Given the description of an element on the screen output the (x, y) to click on. 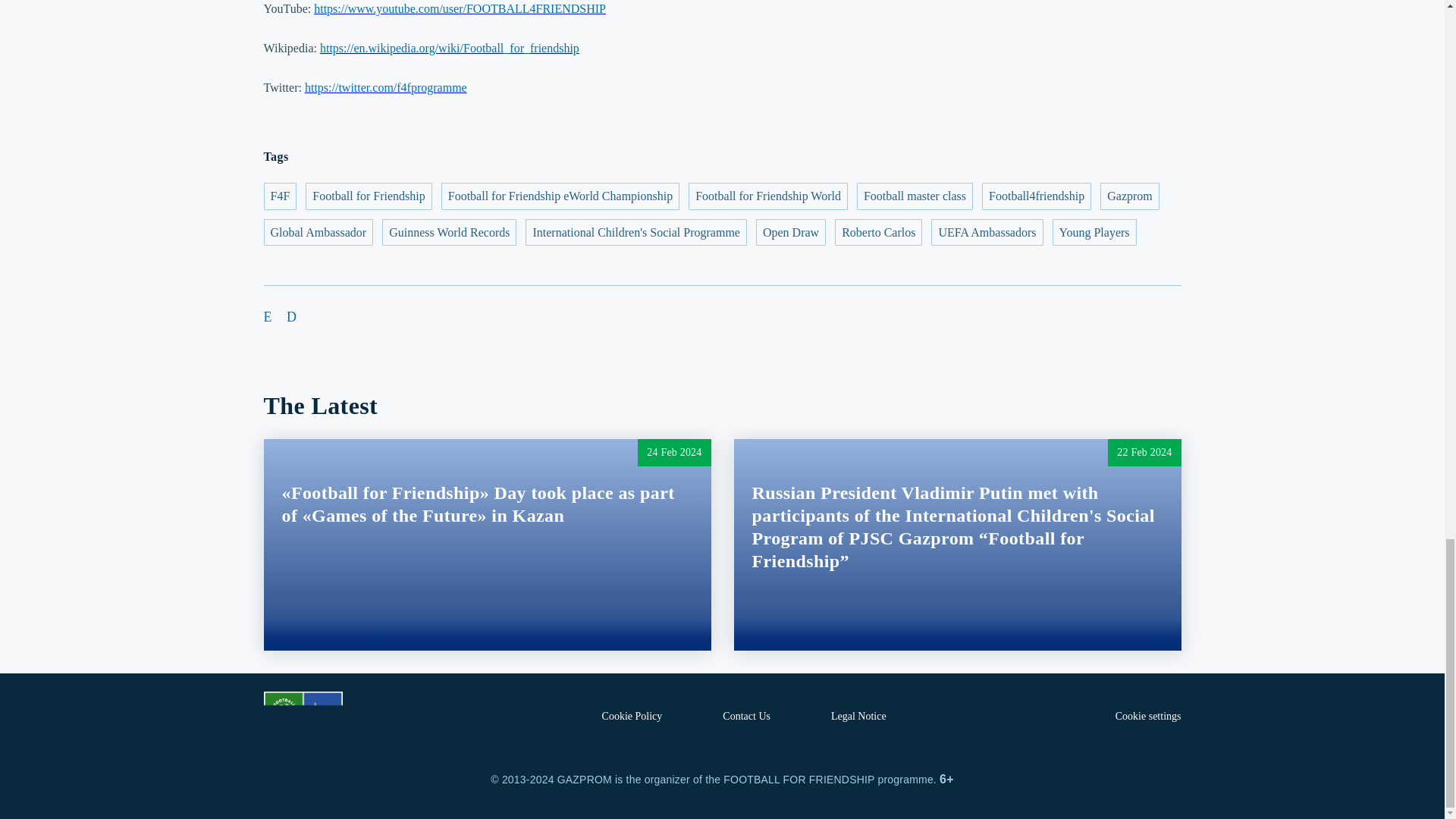
Football for Friendship World (767, 195)
Football master class (914, 195)
Football for Friendship eWorld Championship (560, 195)
Football for Friendship (367, 195)
F4F (280, 195)
